Given the description of an element on the screen output the (x, y) to click on. 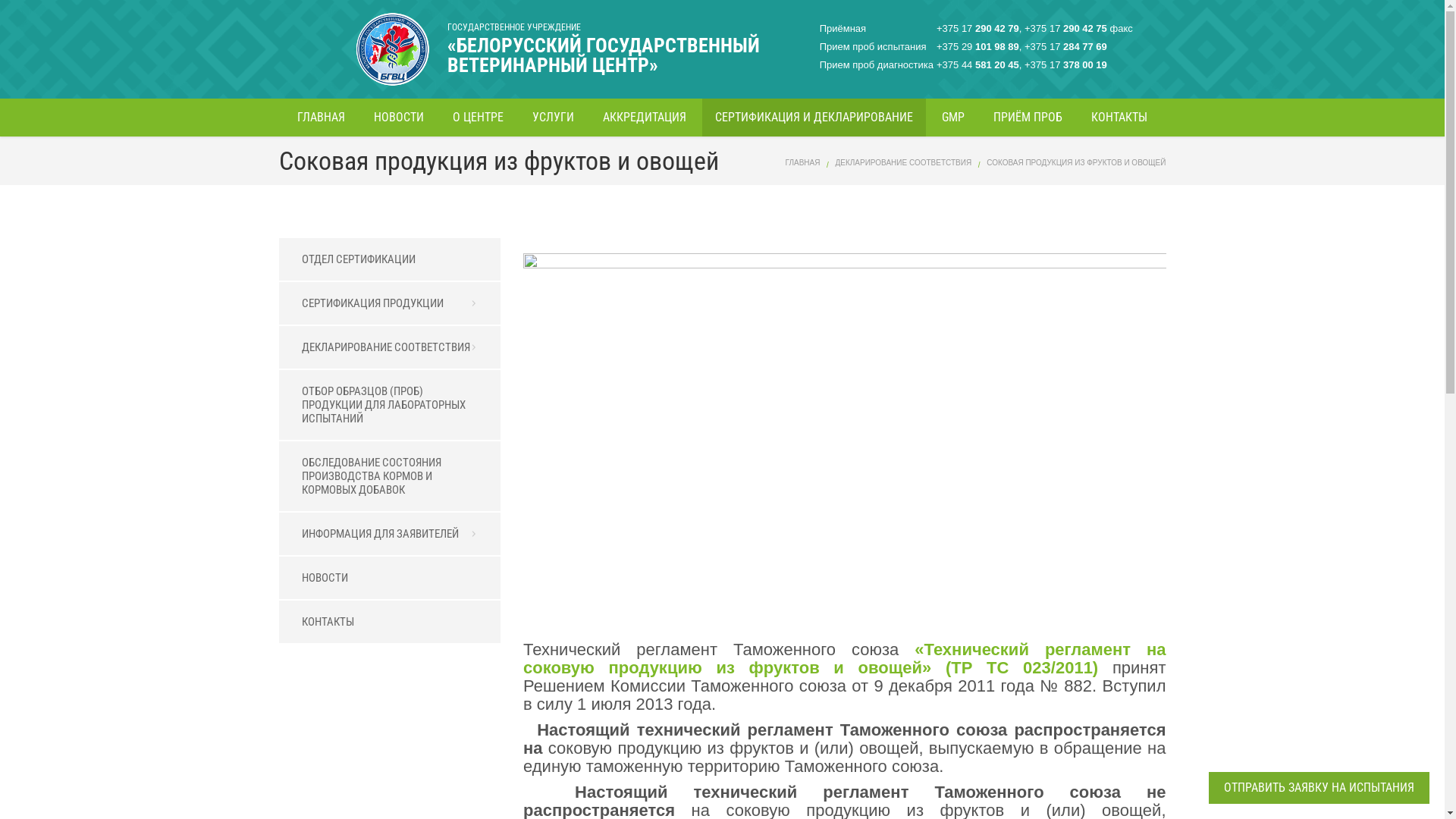
GMP Element type: text (952, 117)
